Given the description of an element on the screen output the (x, y) to click on. 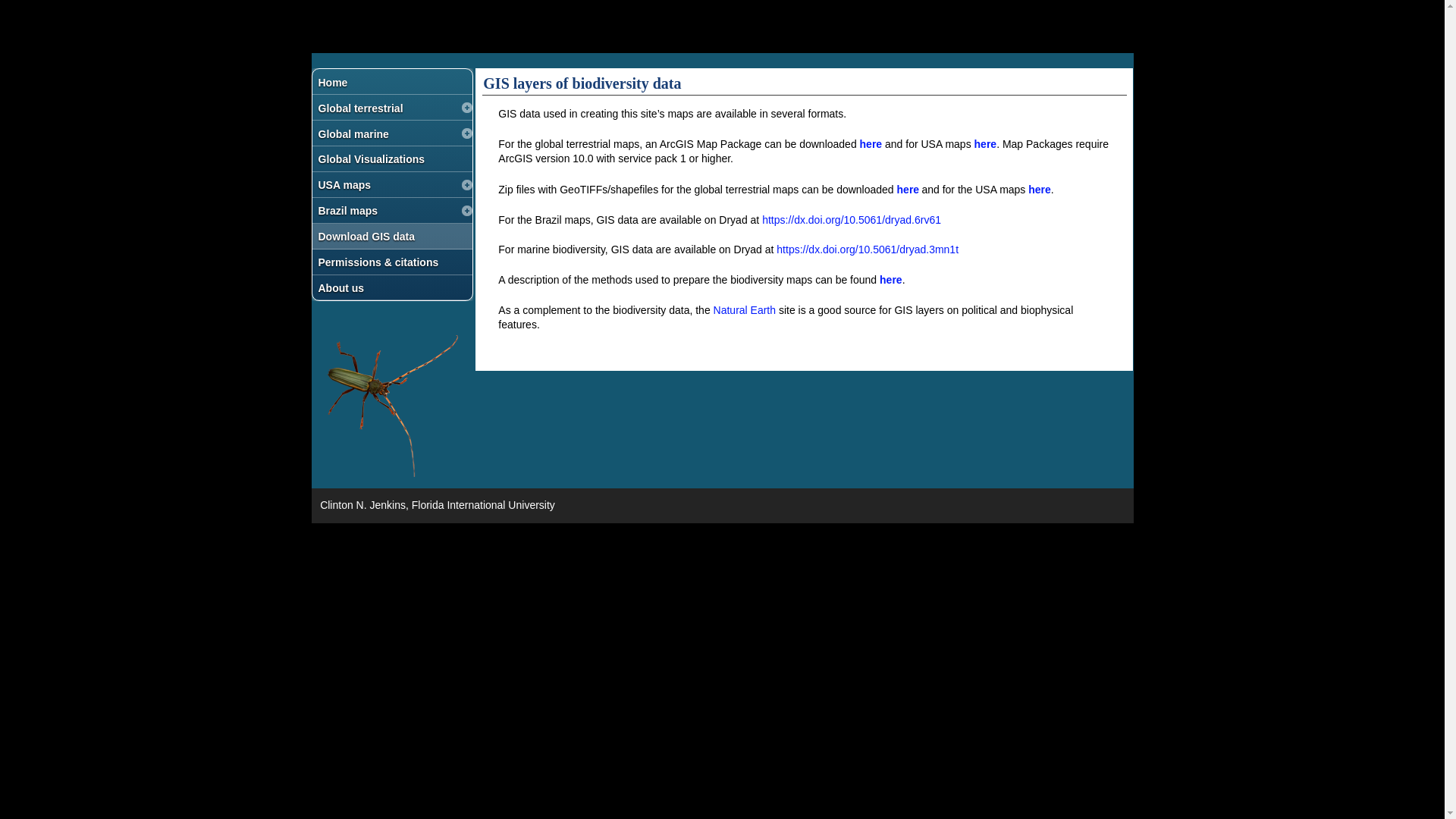
Global terrestrial (386, 107)
Home (386, 82)
here (1039, 189)
Global Visualizations (386, 158)
here (872, 143)
Brazil maps (386, 210)
longhorn beetle (392, 405)
About us (386, 287)
here  (908, 189)
Download GIS data (386, 236)
Global marine (386, 133)
here (985, 143)
USA maps (386, 184)
